Given the description of an element on the screen output the (x, y) to click on. 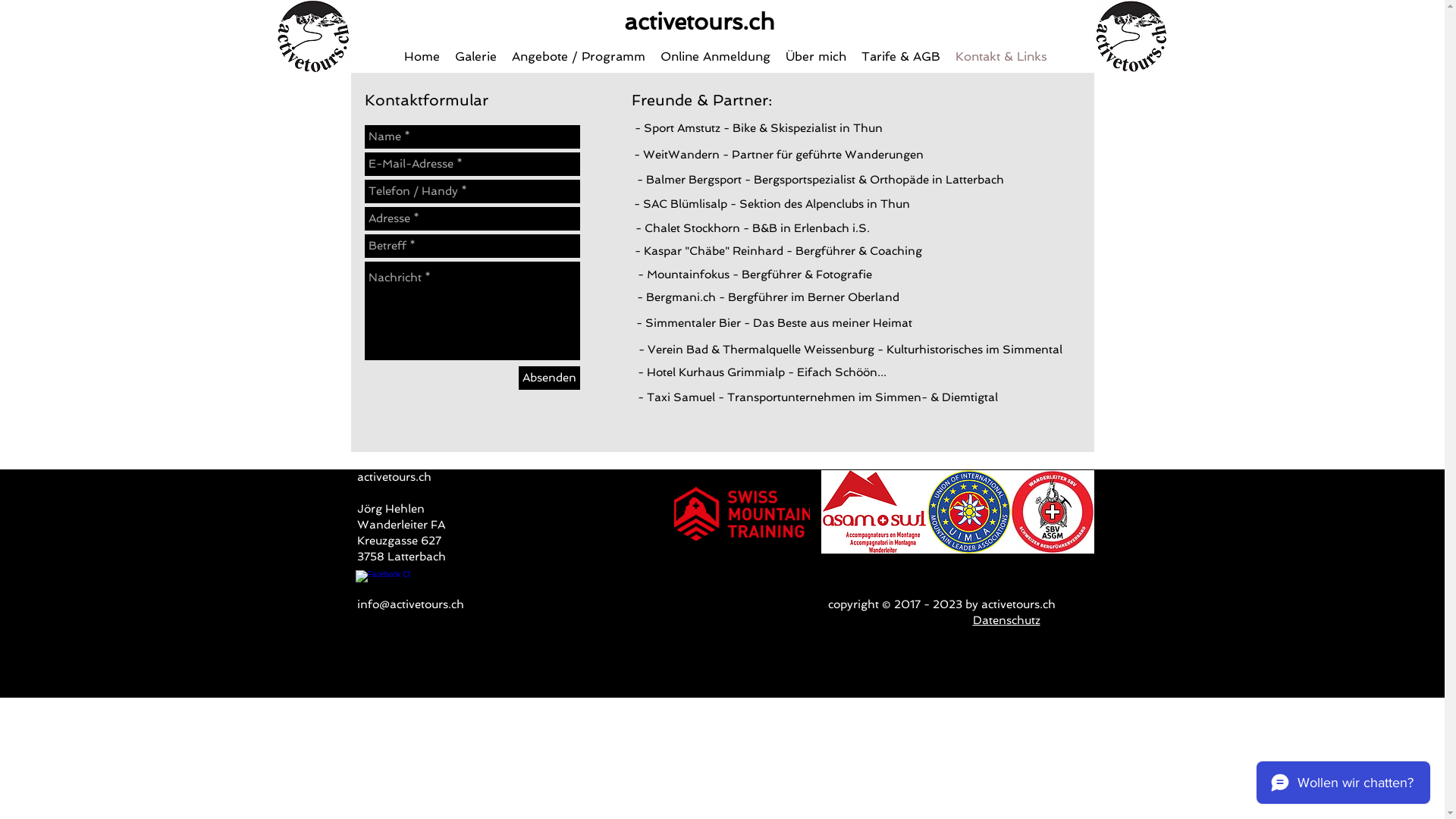
Galerie Element type: text (475, 56)
Datenschutz Element type: text (1005, 620)
- Sport Amstutz - Bike & Skispezialist in Thun Element type: text (758, 127)
info@activetours.ch Element type: text (409, 604)
- Simmentaler Bier - Das Beste aus meiner Heimat Element type: text (773, 322)
- Taxi Samuel - Transportunternehmen im Simmen- & Diemtigtal Element type: text (816, 397)
Angebote / Programm Element type: text (577, 56)
Home Element type: text (420, 56)
Absenden Element type: text (549, 377)
Tarife & AGB Element type: text (900, 56)
- Chalet Stockhorn - B&B in Erlenbach i.S. Element type: text (751, 228)
Online Anmeldung Element type: text (714, 56)
Kontakt & Links Element type: text (1000, 56)
